Given the description of an element on the screen output the (x, y) to click on. 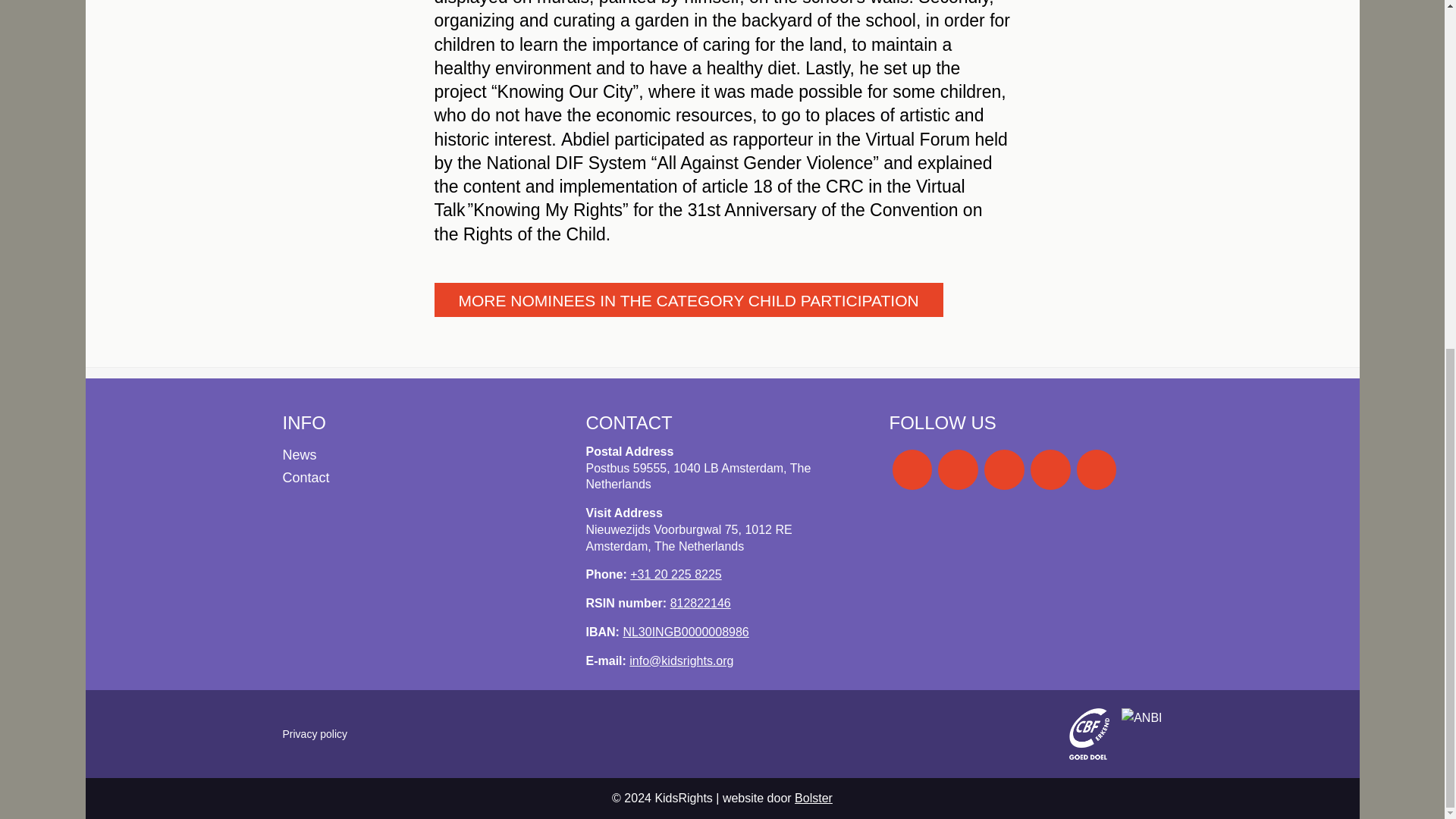
Privacy policy (314, 734)
NL30INGB0000008986 (685, 631)
Visit us on Facebook (911, 469)
Bolster (813, 797)
News (418, 455)
MORE NOMINEES IN THE CATEGORY CHILD PARTICIPATION (687, 299)
812822146 (699, 603)
Contact (418, 477)
Visit us on Instagram (957, 469)
Visit us on LinkedIn (1004, 469)
Subscribe to our RSS feed (1096, 469)
Follow us on Twitter (1050, 469)
